Given the description of an element on the screen output the (x, y) to click on. 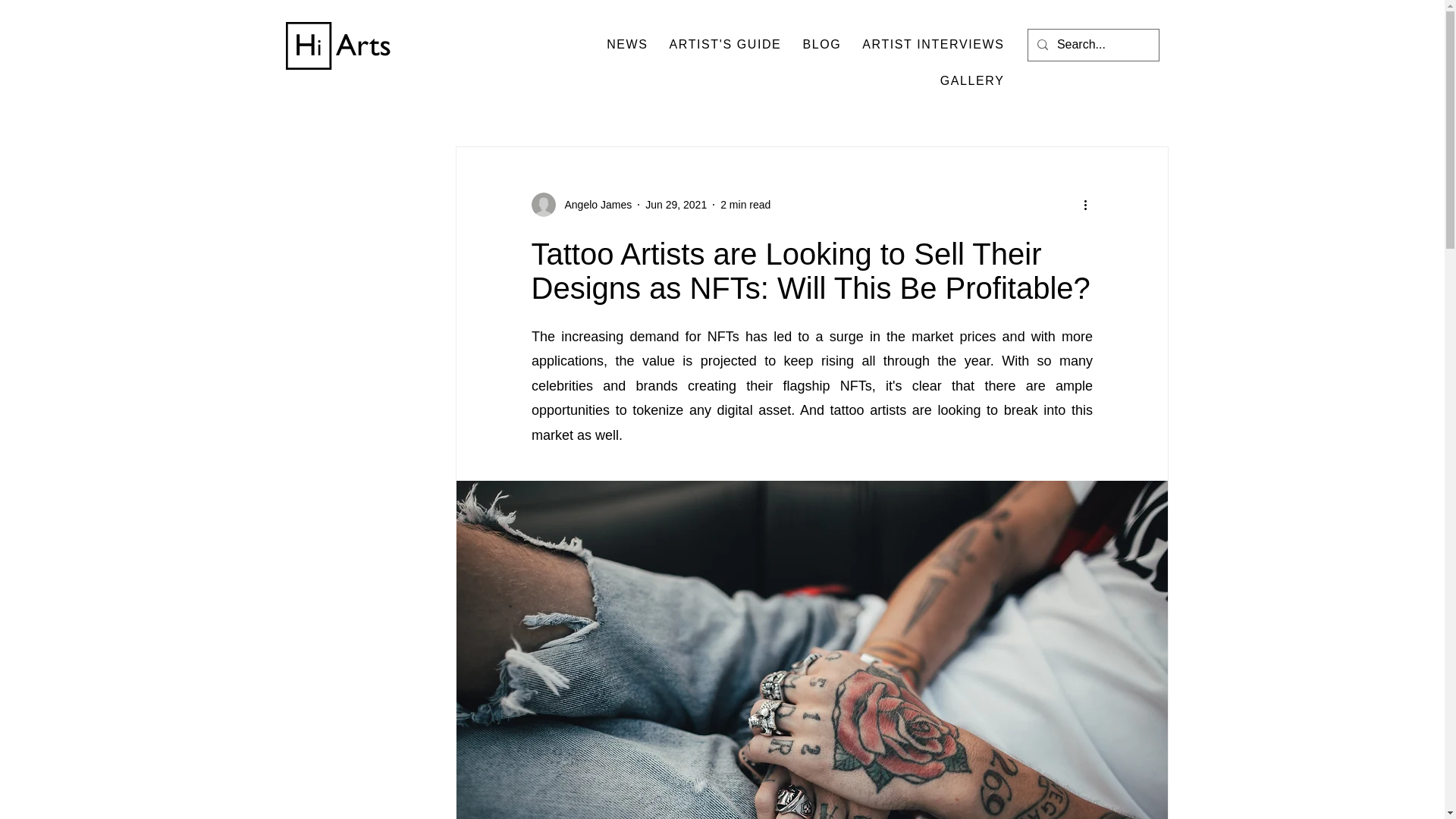
Angelo James (581, 204)
Jun 29, 2021 (675, 204)
BLOG (821, 45)
2 min read (745, 204)
NEWS (626, 45)
GALLERY (972, 81)
Angelo James  (592, 204)
ARTIST INTERVIEWS (932, 45)
ARTIST'S GUIDE (725, 45)
